Given the description of an element on the screen output the (x, y) to click on. 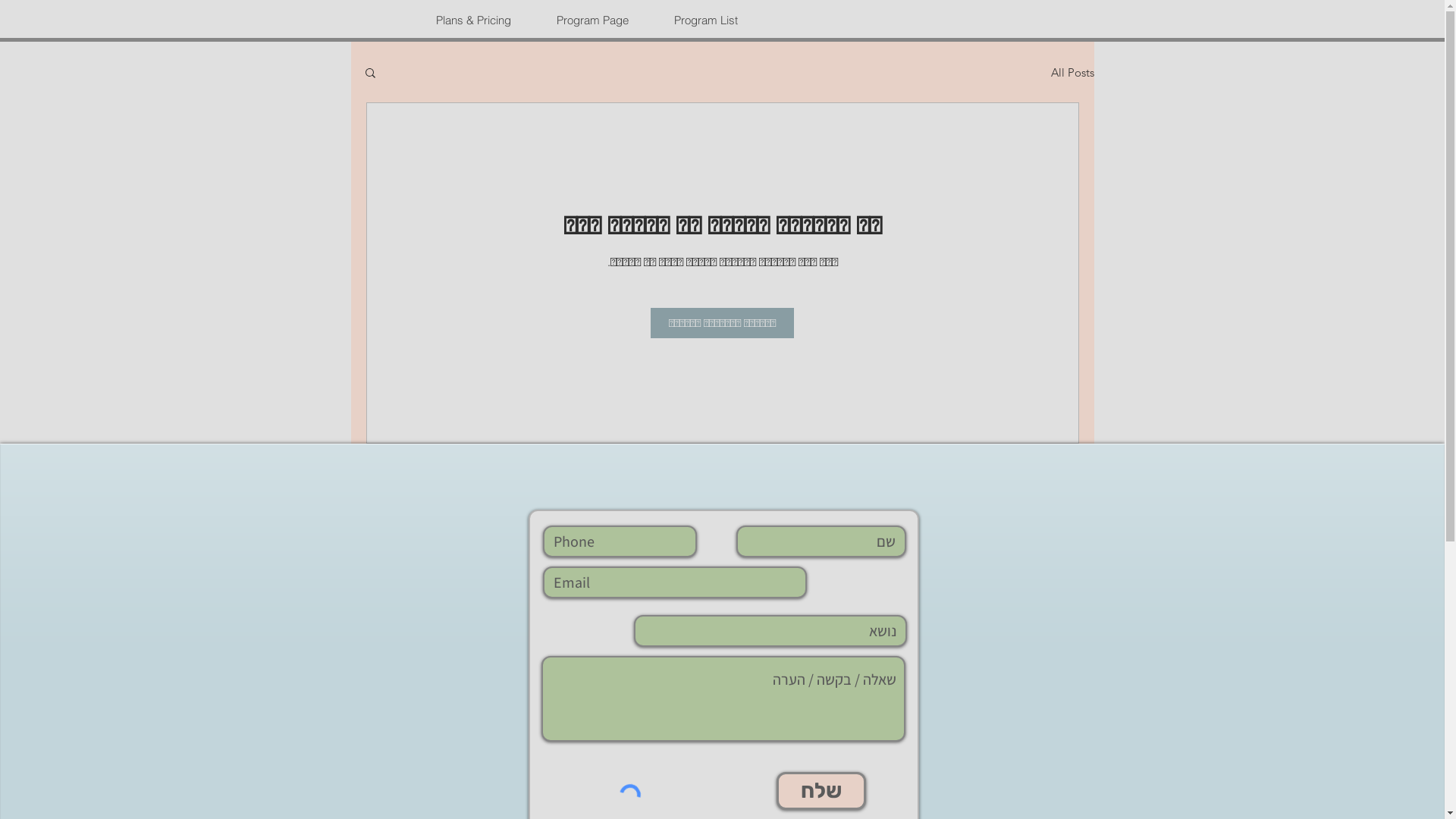
Program List Element type: text (694, 20)
Plans & Pricing Element type: text (461, 20)
All Posts Element type: text (1072, 72)
Program Page Element type: text (580, 20)
